Given the description of an element on the screen output the (x, y) to click on. 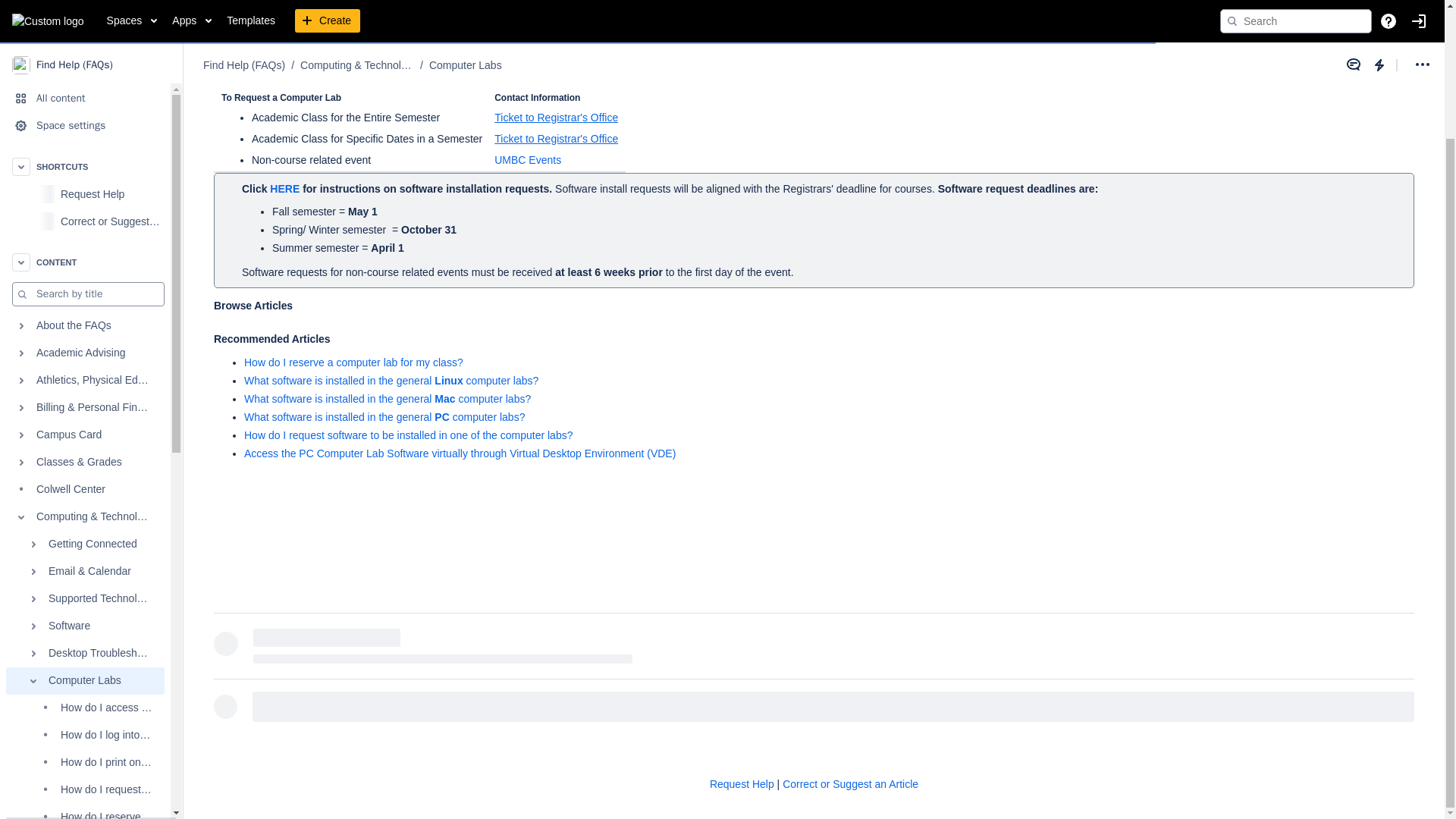
Software (84, 470)
Getting Connected (84, 388)
Campus Card (84, 279)
SHORTCUTS (84, 12)
Supported Technologies (84, 443)
CONTENT (84, 106)
Academic Advising (84, 197)
Correct or Suggest an Article (111, 65)
Request Help (111, 38)
Desktop Troubleshooting (84, 497)
